Given the description of an element on the screen output the (x, y) to click on. 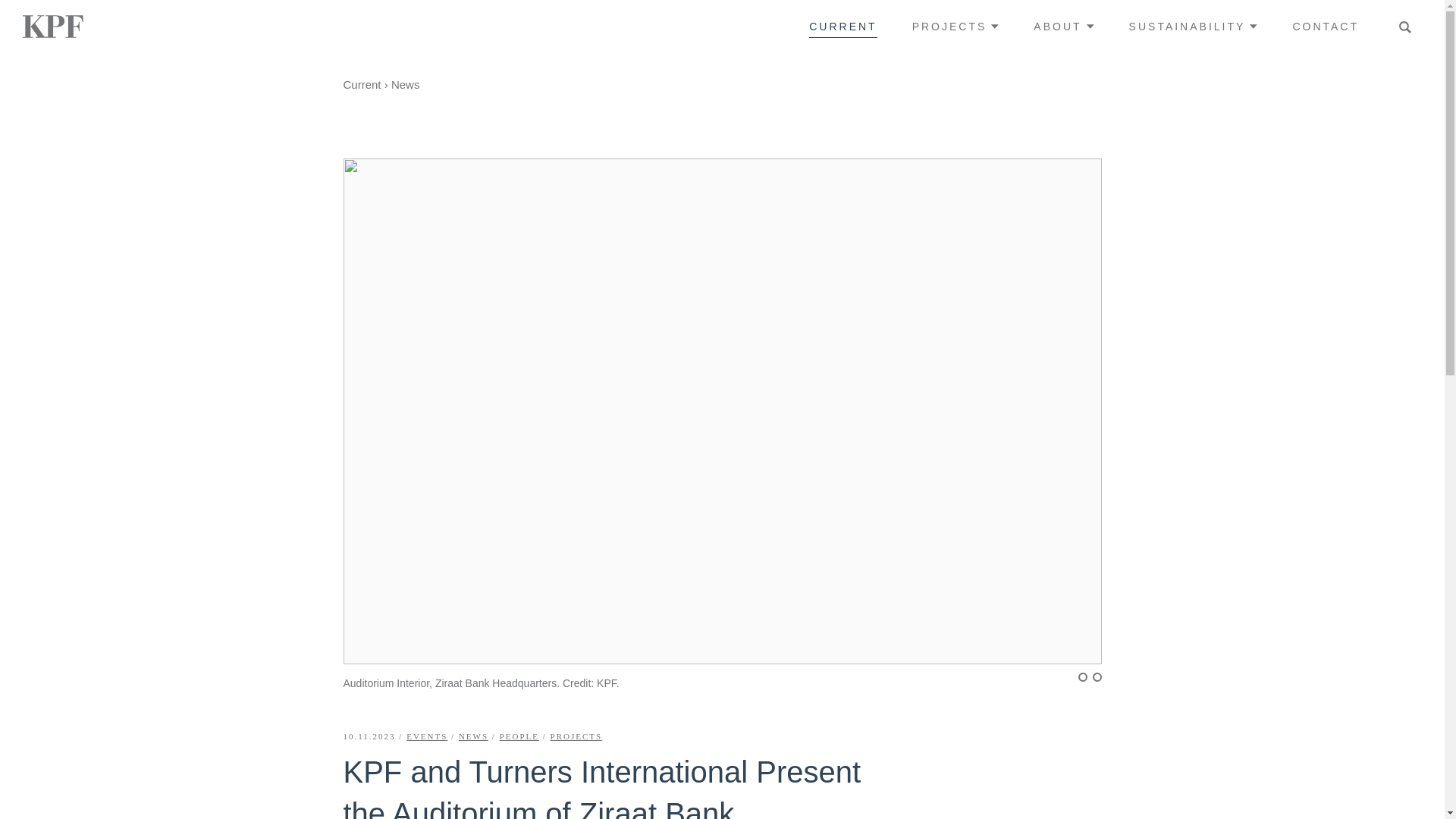
ABOUT (1063, 26)
SUSTAINABILITY (1193, 26)
CURRENT (842, 26)
PROJECTS (955, 26)
